Given the description of an element on the screen output the (x, y) to click on. 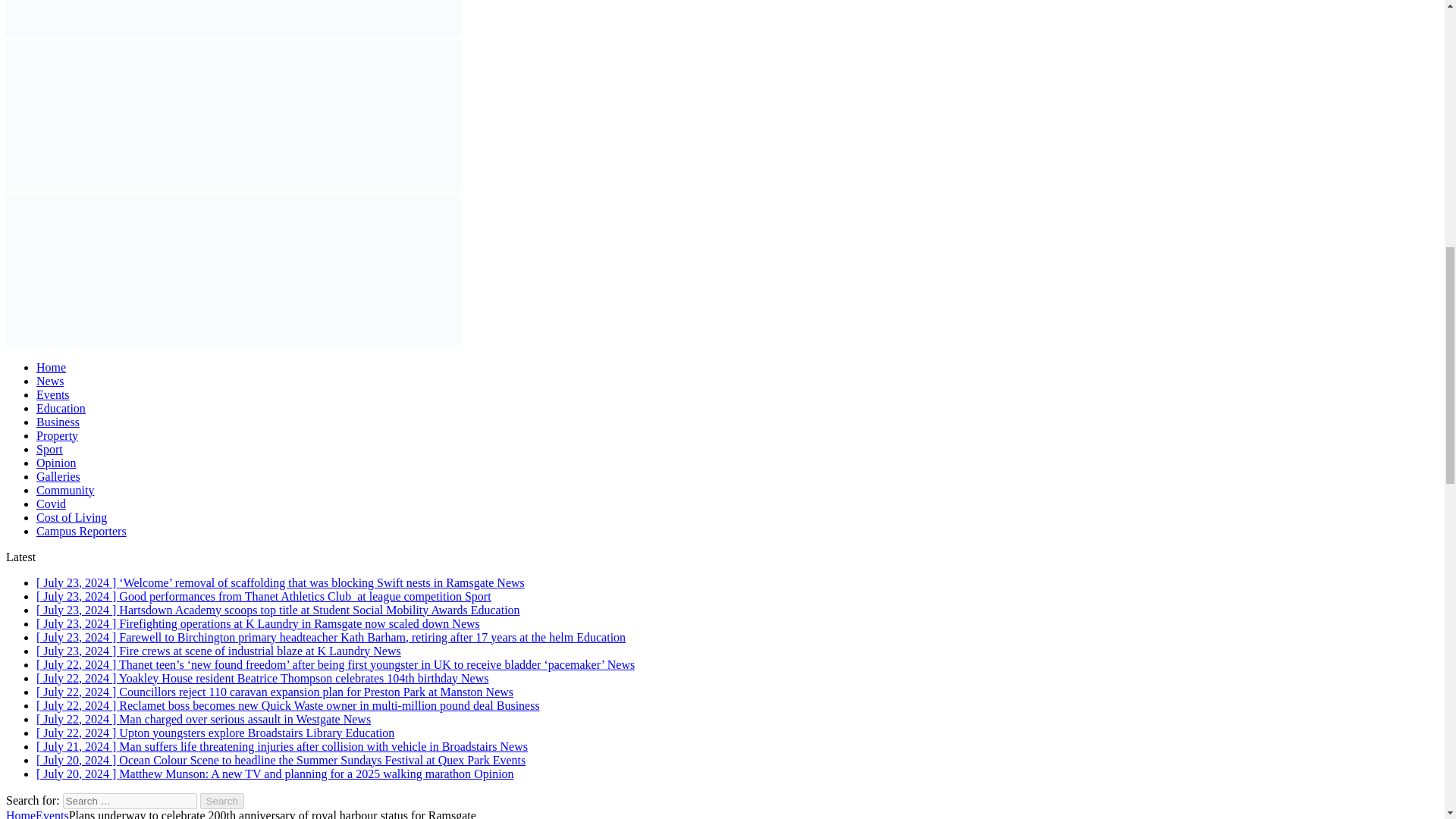
Home (50, 367)
Man charged over serious assault in Westgate (203, 718)
Galleries (58, 476)
Search (222, 801)
Sport (49, 449)
Business (58, 421)
Opinion (55, 462)
Campus Reporters (81, 530)
Fire crews at scene of industrial blaze at K Laundry (218, 650)
Property (57, 435)
